Given the description of an element on the screen output the (x, y) to click on. 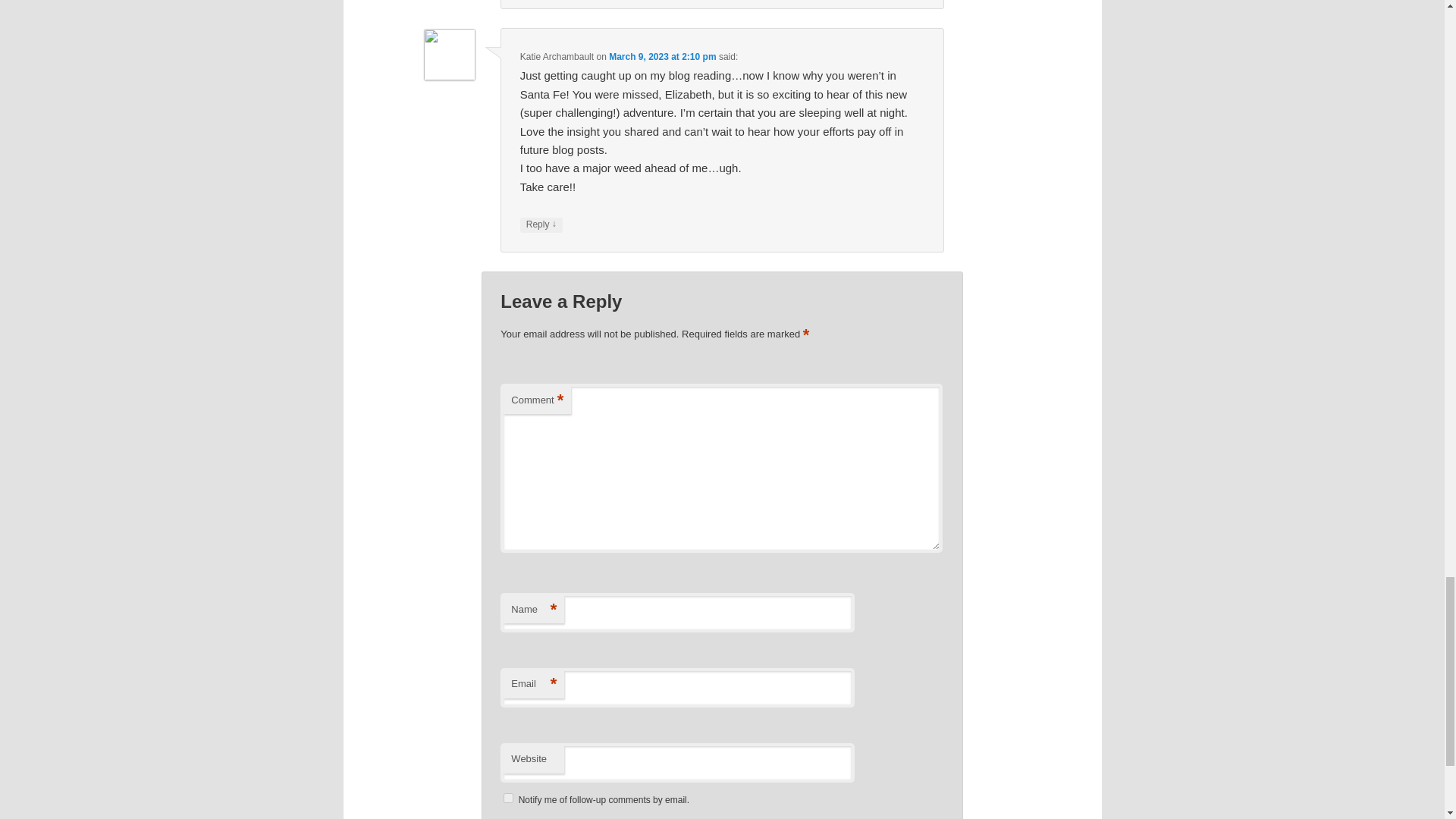
March 9, 2023 at 2:10 pm (662, 56)
subscribe (508, 798)
